Given the description of an element on the screen output the (x, y) to click on. 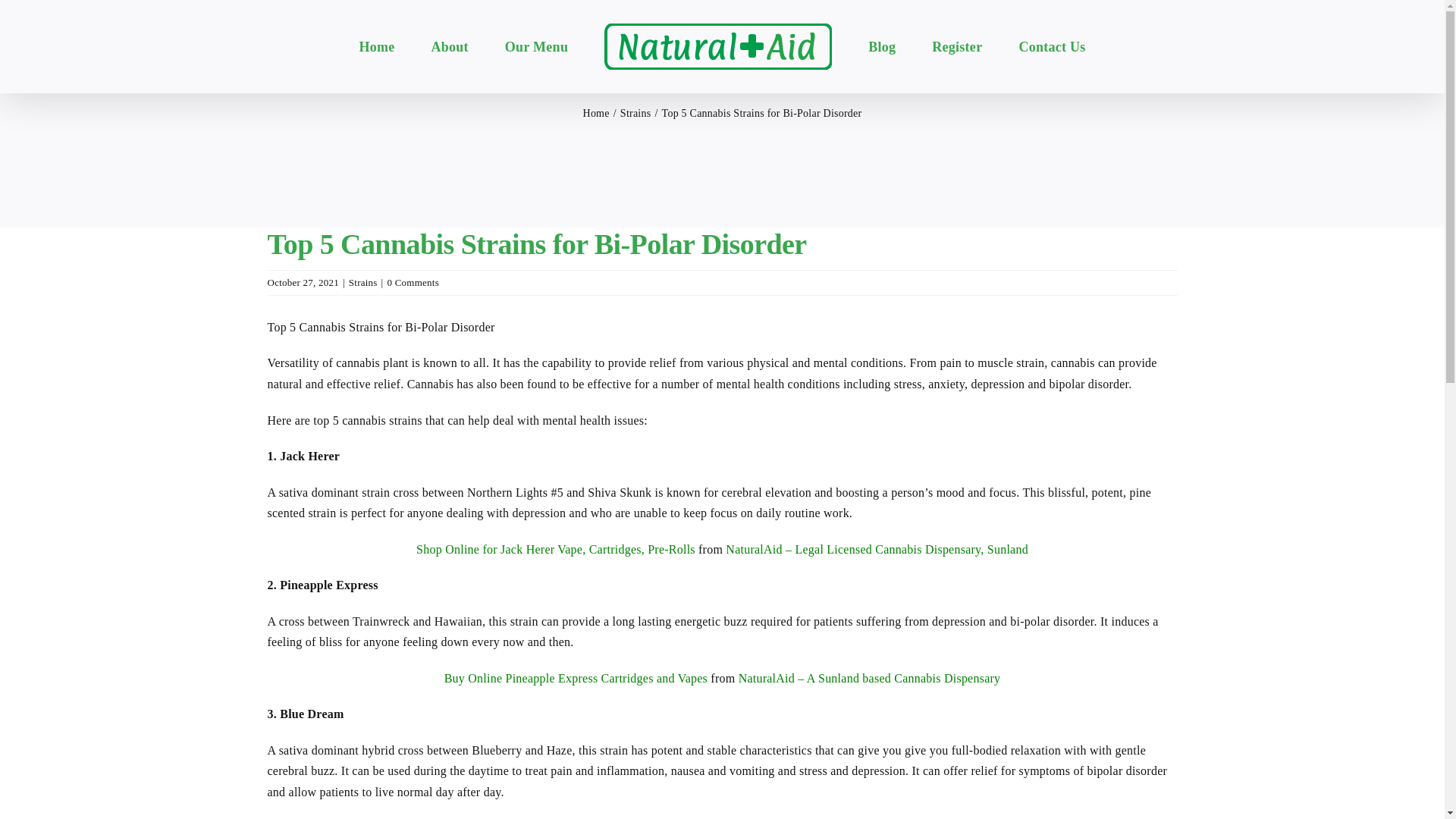
Strains (635, 112)
Our Menu (536, 46)
Strains (363, 282)
Home (596, 112)
Shop Online for Jack Herer Vape, Cartridges, Pre-Rolls (555, 549)
0 Comments (413, 282)
Buy Online Pineapple Express Cartridges and Vapes (575, 677)
Contact Us (1050, 46)
